Given the description of an element on the screen output the (x, y) to click on. 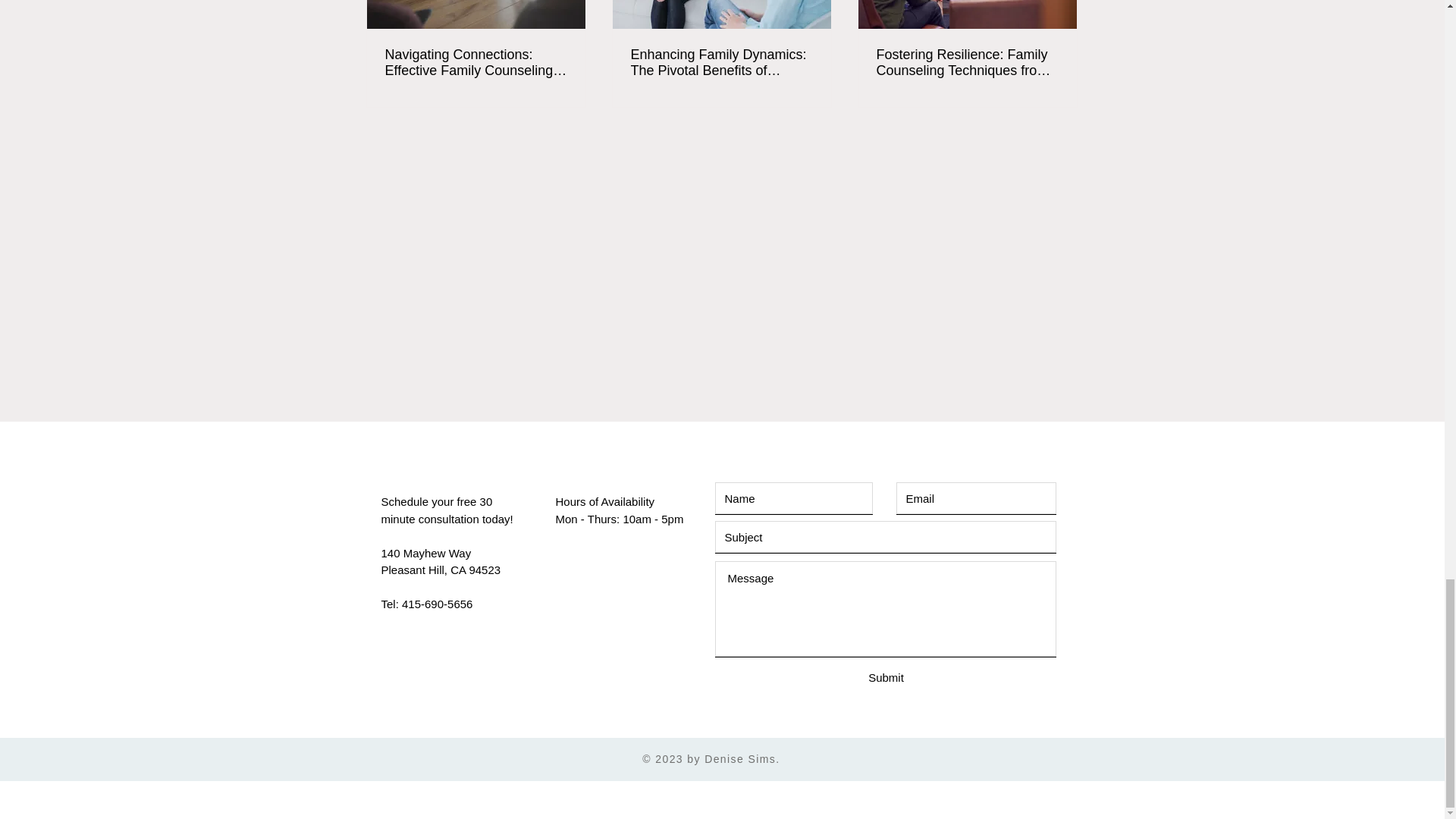
Submit (886, 677)
